Given the description of an element on the screen output the (x, y) to click on. 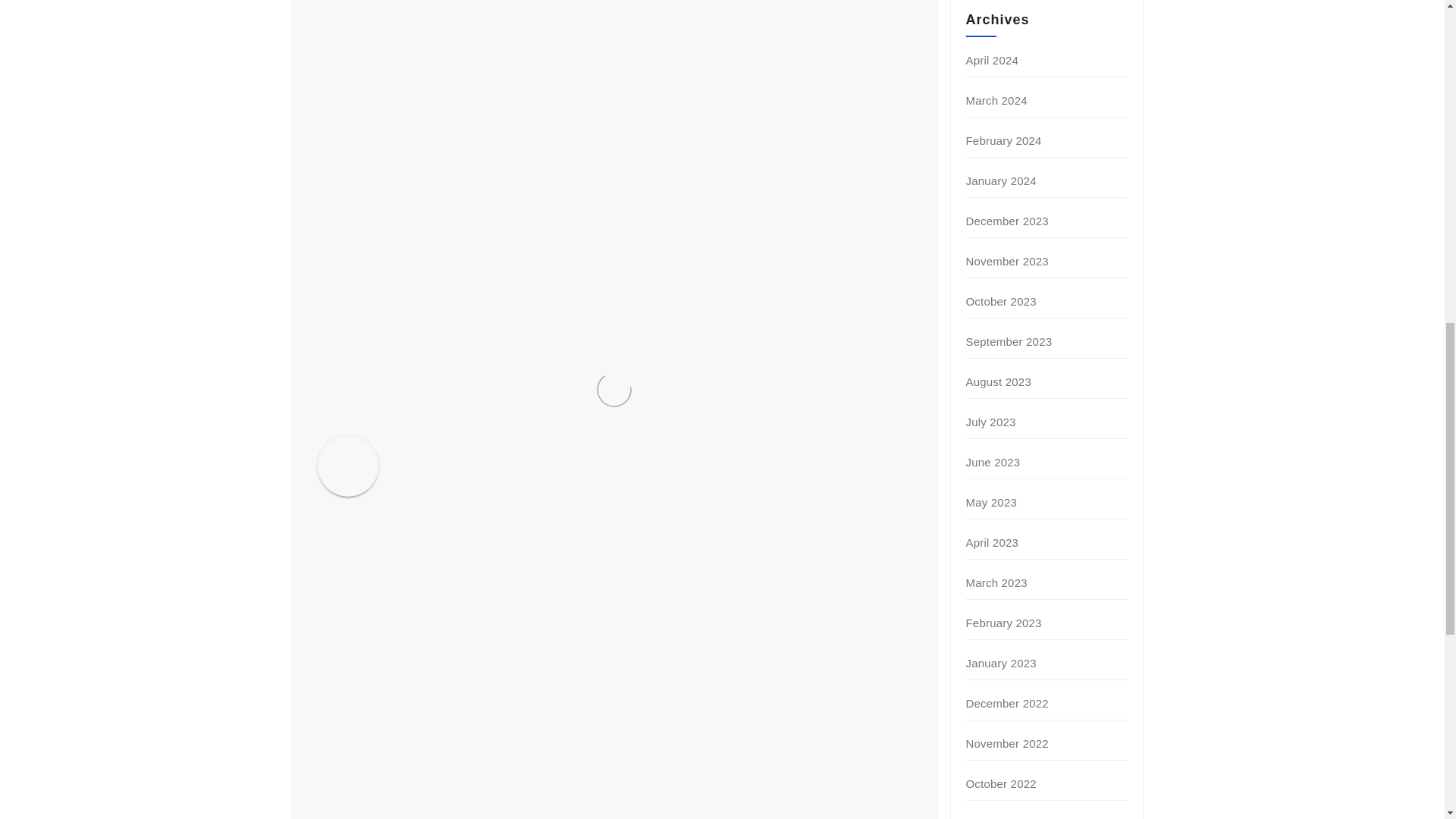
reliablesrg (482, 447)
February 2024 (1004, 140)
January 2023 (1001, 662)
May 2023 (991, 502)
March 2023 (996, 582)
November 2022 (1007, 743)
July 2023 (991, 421)
April 2024 (992, 60)
June 2023 (993, 461)
January 2024 (1001, 180)
December 2023 (1007, 220)
March 2024 (996, 100)
November 2023 (1007, 260)
February 2023 (1004, 622)
October 2022 (1001, 783)
